Given the description of an element on the screen output the (x, y) to click on. 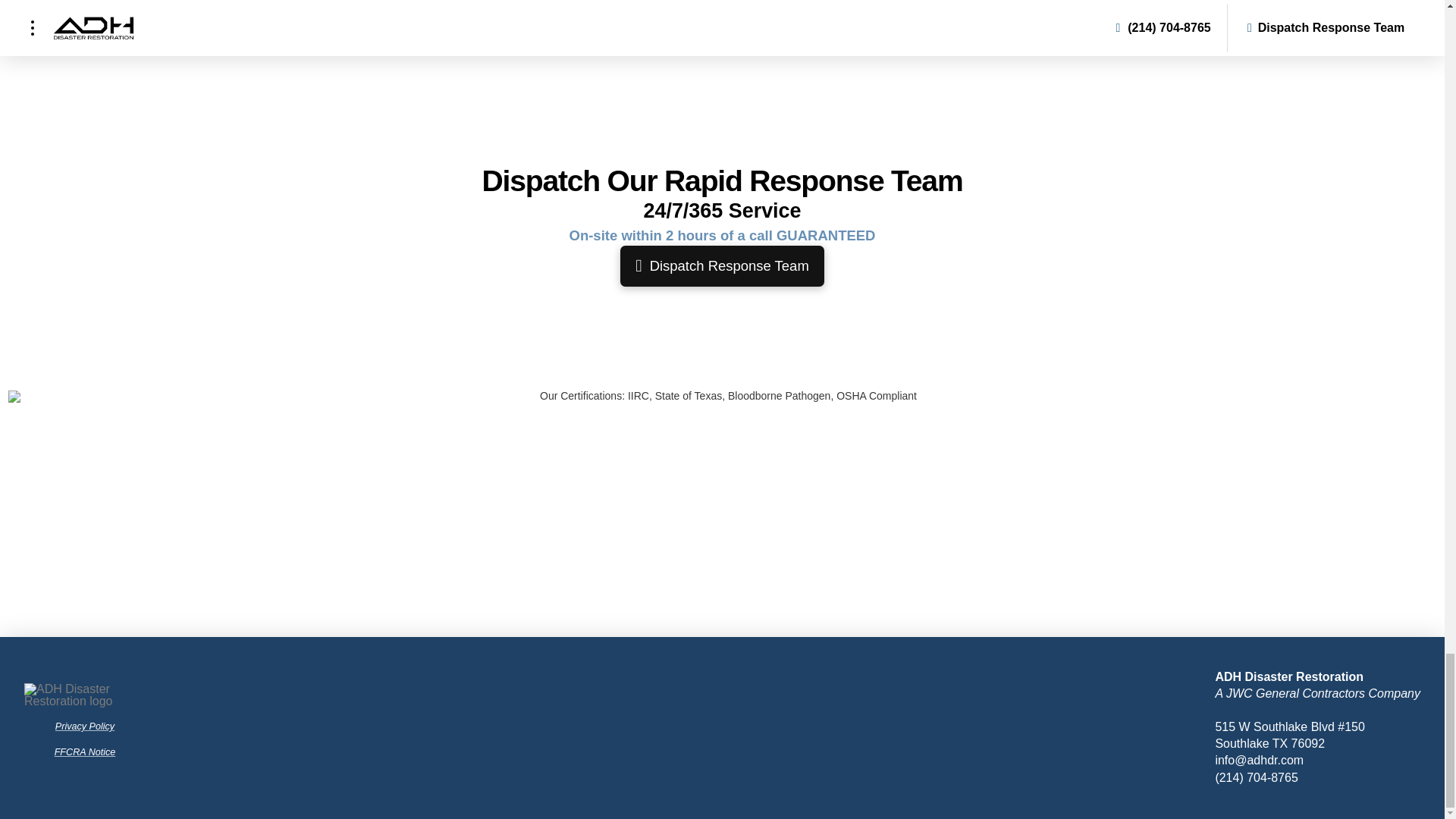
Privacy Policy (85, 726)
FFCRA Notice (85, 753)
Dispatch Response Team (722, 265)
